Given the description of an element on the screen output the (x, y) to click on. 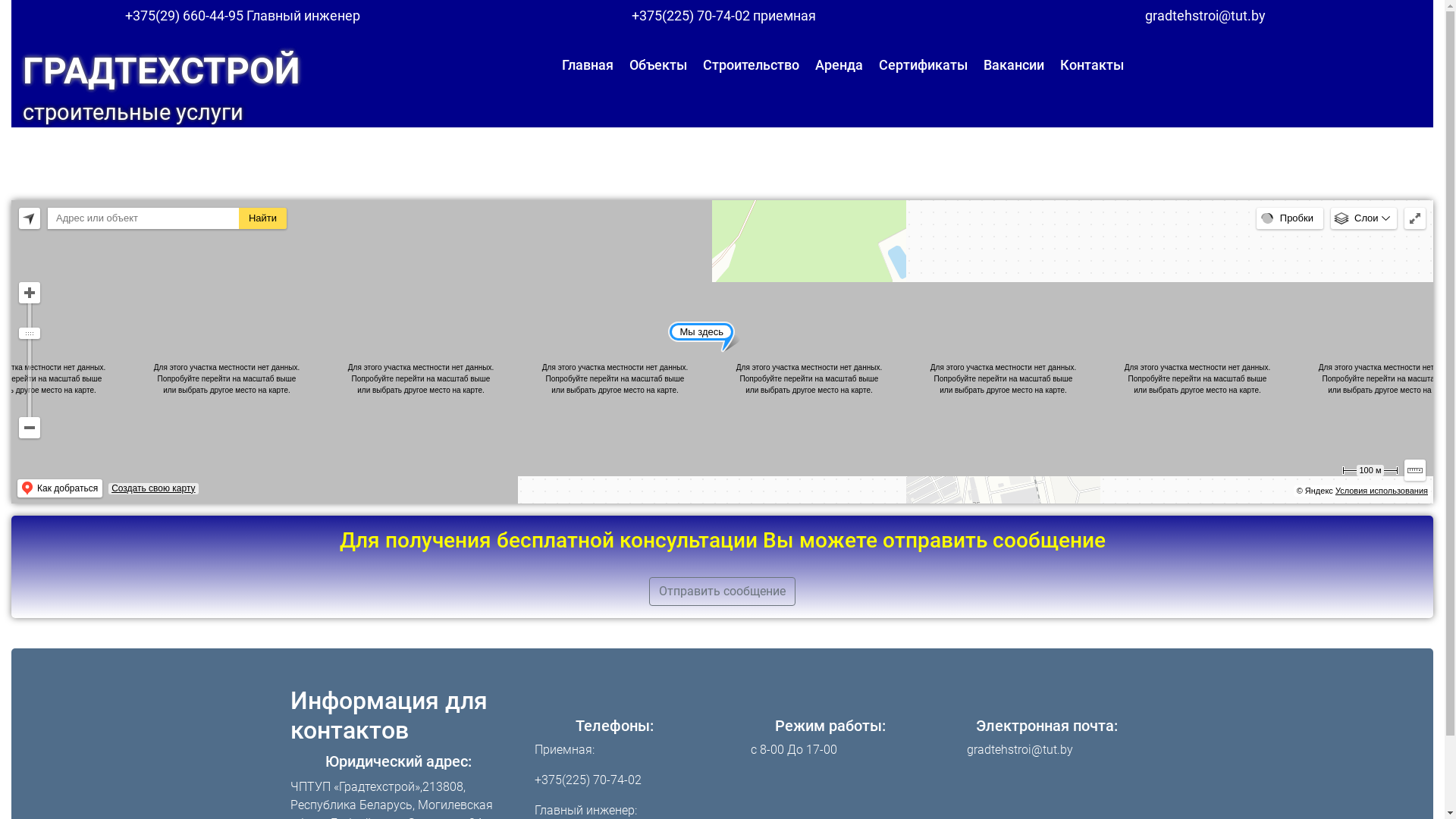
gradtehstroi@tut.by Element type: text (1205, 15)
